Given the description of an element on the screen output the (x, y) to click on. 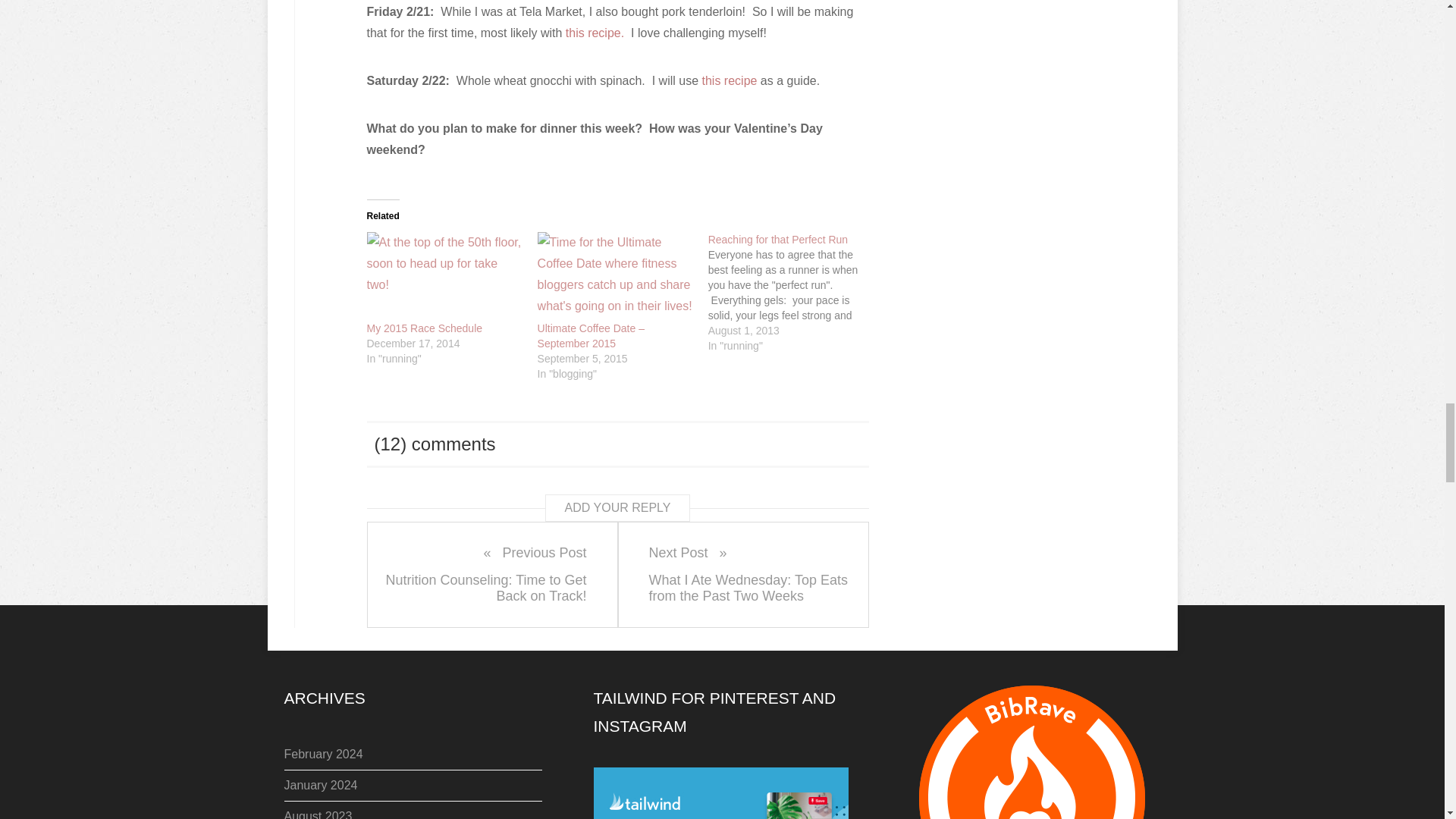
My 2015 Race Schedule (424, 328)
Reaching for that Perfect Run (777, 239)
My 2015 Race Schedule (444, 276)
this recipe (729, 80)
Reaching for that Perfect Run (793, 291)
My 2015 Race Schedule (424, 328)
this recipe. (595, 32)
Reaching for that Perfect Run (777, 239)
